Given the description of an element on the screen output the (x, y) to click on. 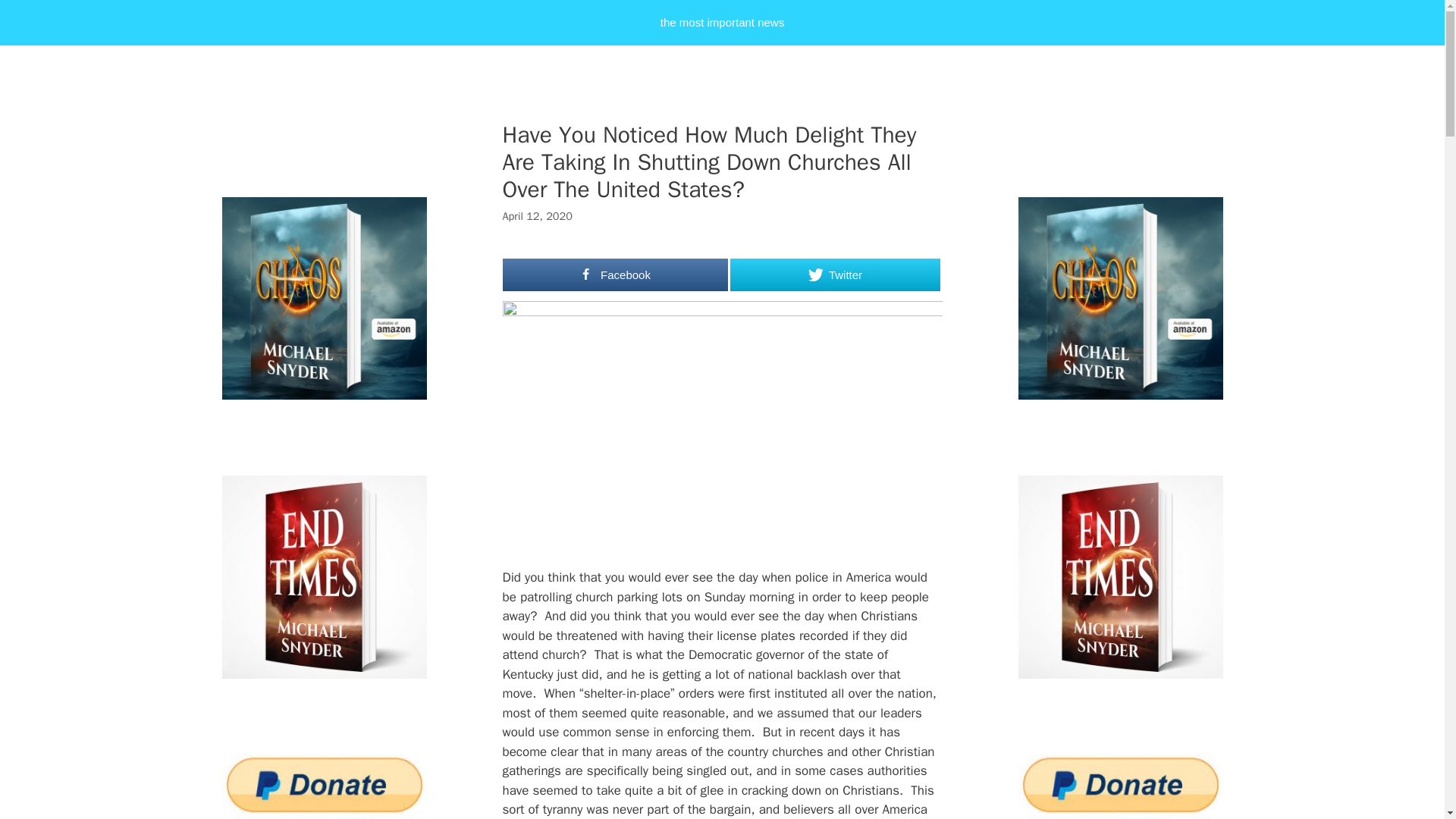
the most important news (722, 22)
the most important news (722, 22)
Facebook (615, 274)
Facebook (615, 274)
Twitter (834, 274)
Twitter (834, 274)
